Given the description of an element on the screen output the (x, y) to click on. 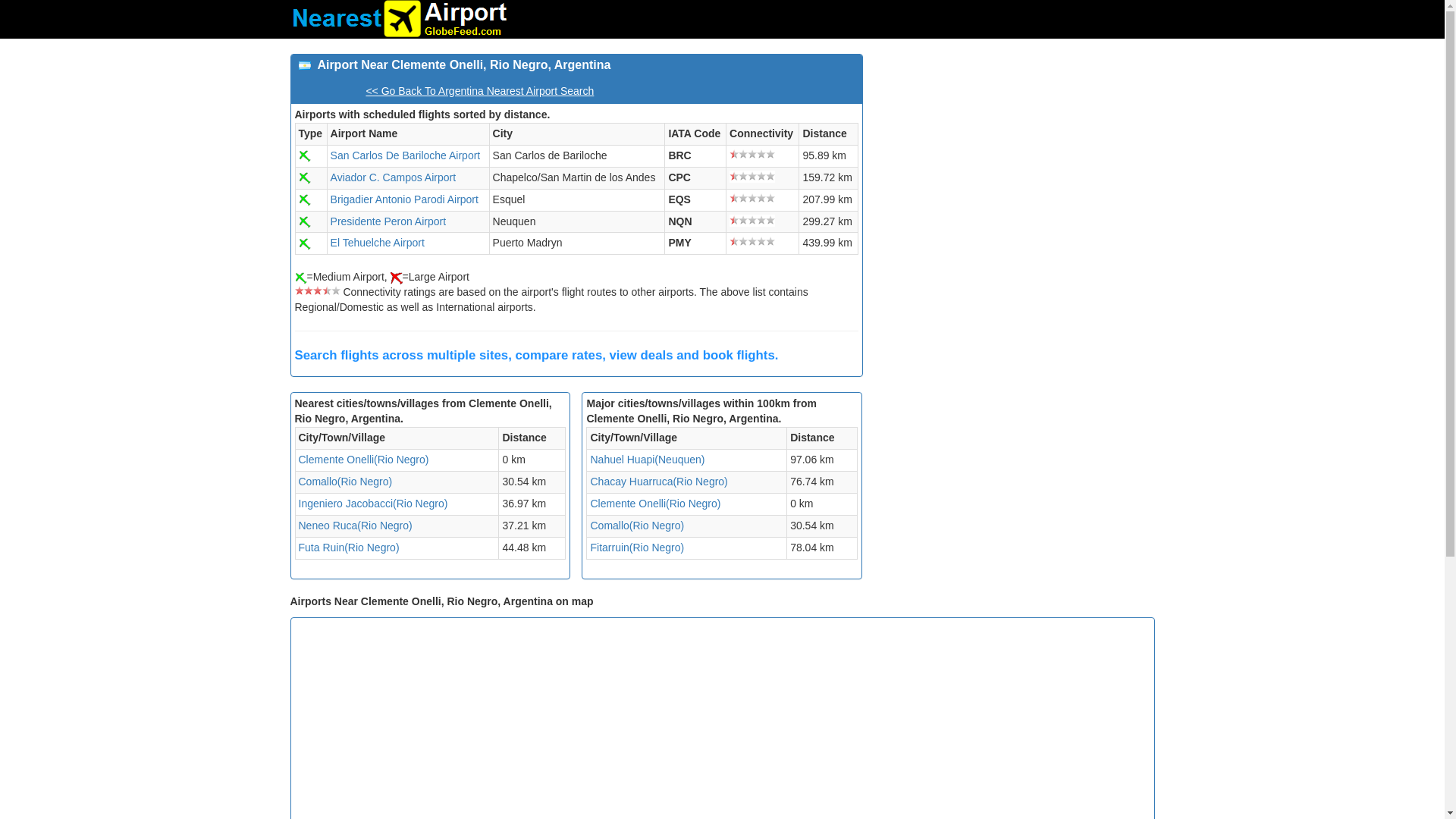
Airports near Chacay Huarruca, Rio Negro, Argentina (657, 481)
Airports near Fitarruin, Rio Negro, Argentina (636, 547)
Airports near Futa Ruin, Rio Negro, Argentina (348, 547)
Search Nearest Airport (398, 18)
Airports near Comallo, Rio Negro, Argentina (636, 525)
Airports near Clemente Onelli, Rio Negro, Argentina (654, 503)
Brigadier Antonio Parodi Airport (404, 199)
Presidente Peron Airport (388, 221)
El Tehuelche Airport (377, 242)
Aviador C. Campos Airport (392, 177)
